Given the description of an element on the screen output the (x, y) to click on. 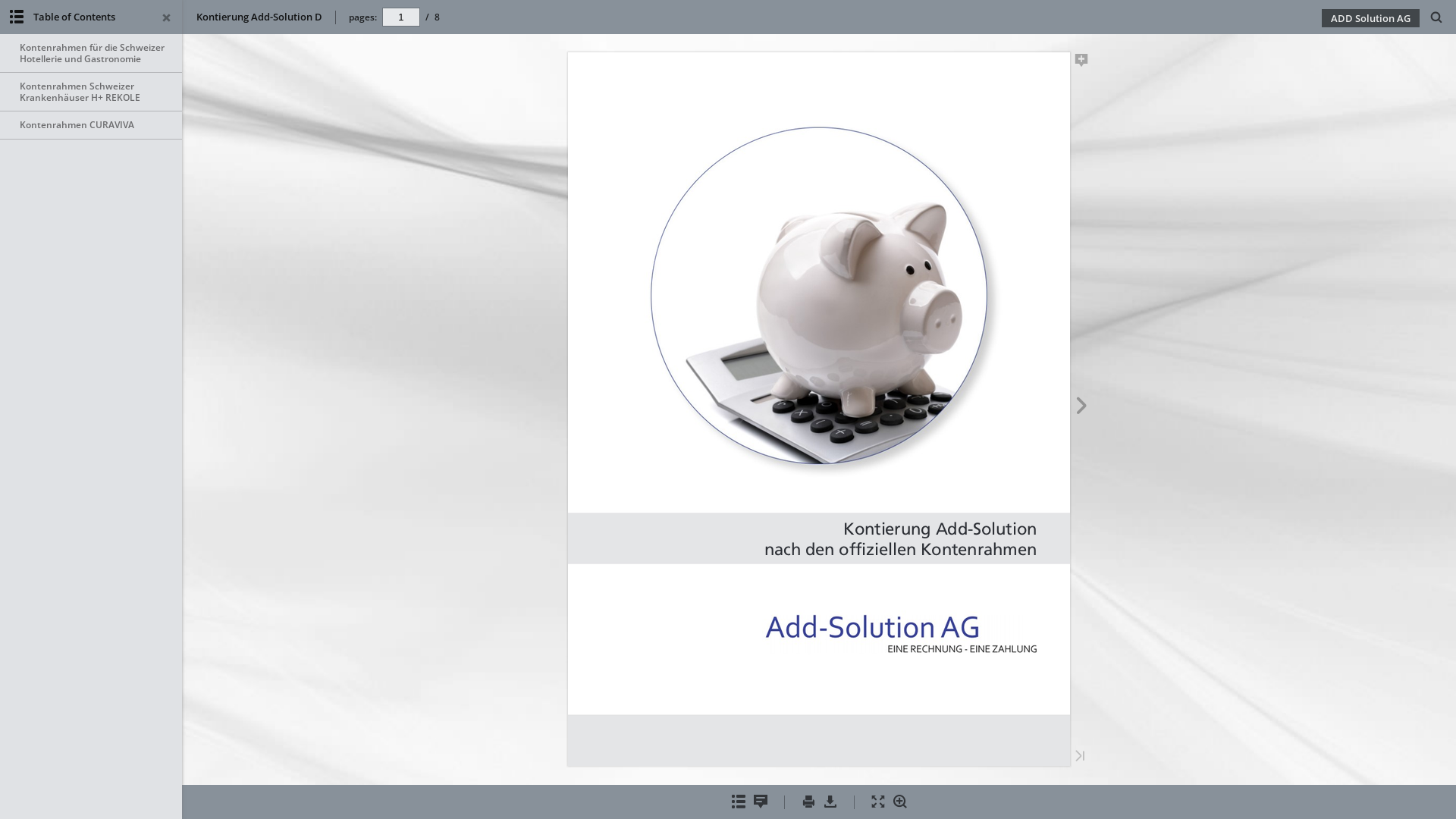
Notes Element type: hover (760, 801)
ADD Solution AG Element type: text (1370, 18)
Add Note Element type: hover (1081, 62)
Next Page Element type: hover (1081, 407)
Search Element type: hover (1436, 17)
Zoom In Element type: hover (899, 801)
Table of Contents Element type: hover (738, 801)
Print Element type: hover (808, 801)
Last Page Element type: hover (1079, 756)
Download Element type: hover (829, 801)
Fullscreen Element type: hover (877, 801)
